Given the description of an element on the screen output the (x, y) to click on. 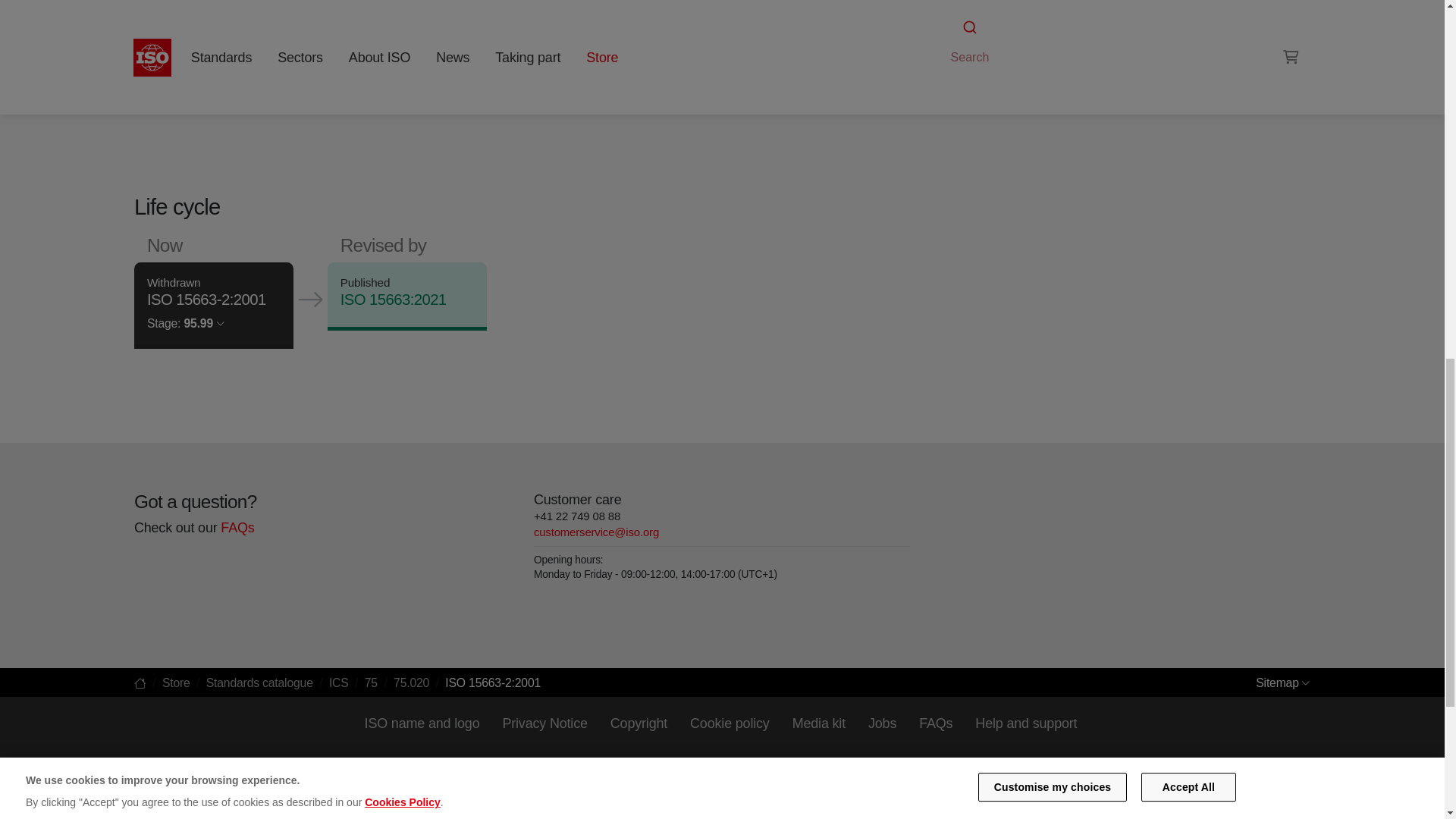
75.020 (988, 8)
Stage: 95.99 (185, 323)
Extraction and processing of petroleum and natural gas (988, 8)
RSS (956, 38)
